Given the description of an element on the screen output the (x, y) to click on. 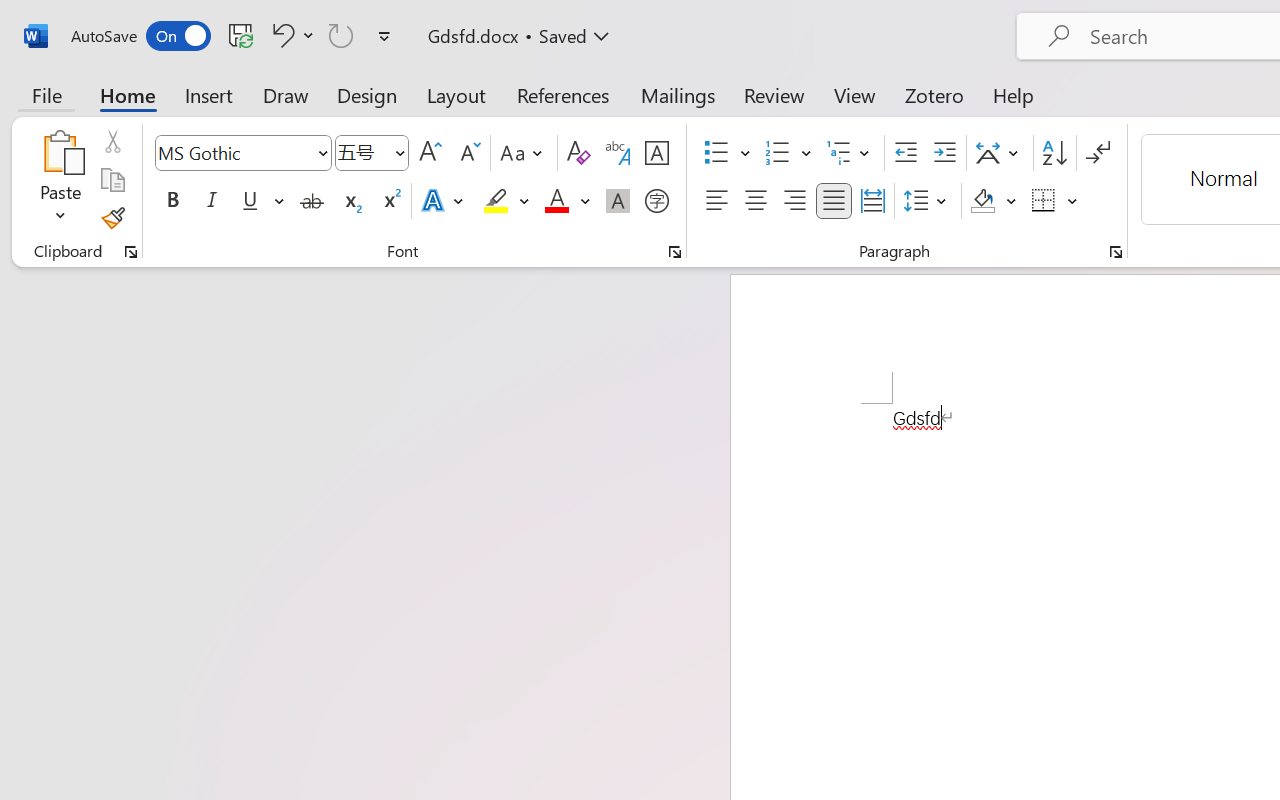
Can't Repeat (341, 35)
Asian Layout (1000, 153)
Undo Font Formatting (290, 35)
Line and Paragraph Spacing (927, 201)
Font Color (567, 201)
Text Effects and Typography (444, 201)
Shrink Font (468, 153)
